Given the description of an element on the screen output the (x, y) to click on. 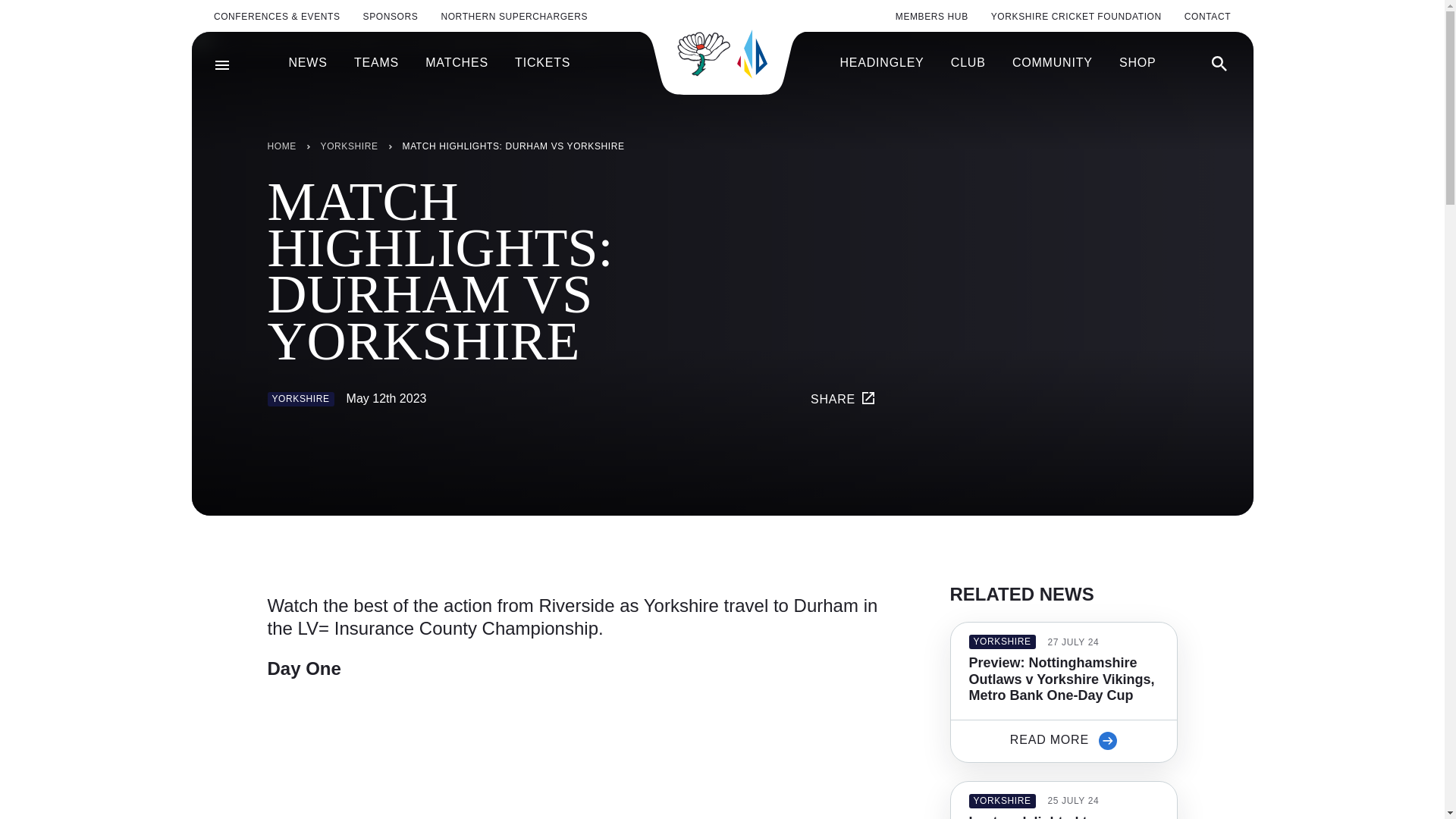
YORKSHIRE CRICKET FOUNDATION (1076, 16)
HEADINGLEY (881, 62)
NEWS (307, 62)
MEMBERS HUB (931, 16)
TEAMS (375, 62)
TICKETS (542, 62)
Yorkshire County Cricket Club (721, 53)
SPONSORS (390, 16)
MATCHES (456, 62)
CONTACT (1207, 16)
Highlights: Durham vs Yorkshire - Day One (456, 755)
NORTHERN SUPERCHARGERS (514, 16)
